Given the description of an element on the screen output the (x, y) to click on. 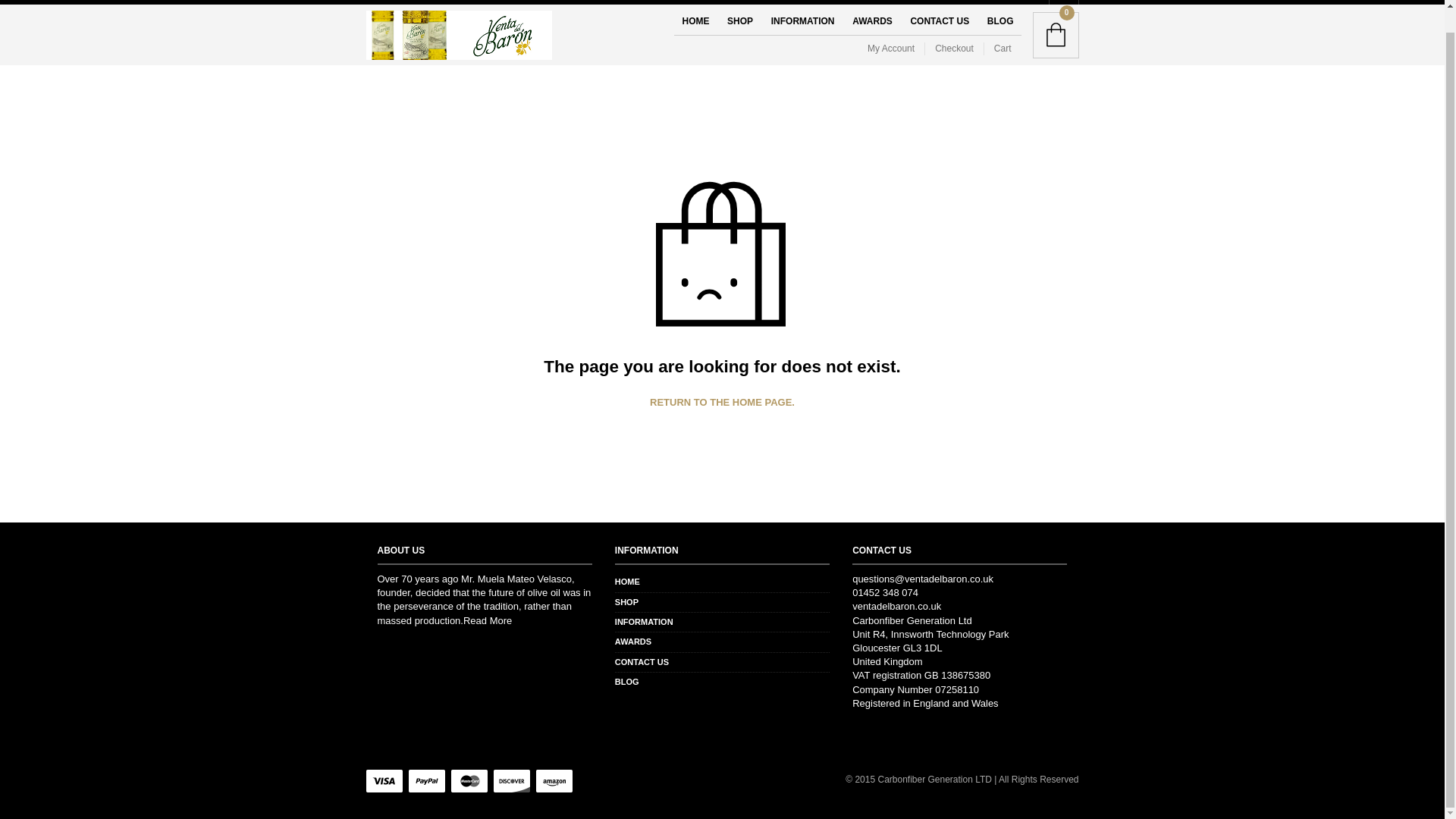
INFORMATION (802, 21)
Read More (487, 620)
RETURN TO THE HOME PAGE. (721, 402)
CONTACT US (939, 21)
Cart (1003, 48)
HOME (627, 581)
CONTACT US (641, 661)
BLOG (1000, 21)
INFORMATION (643, 621)
Checkout (954, 48)
AWARDS (871, 21)
SHOP (739, 21)
HOME (695, 21)
SHOP (626, 601)
AWARDS (632, 641)
